Given the description of an element on the screen output the (x, y) to click on. 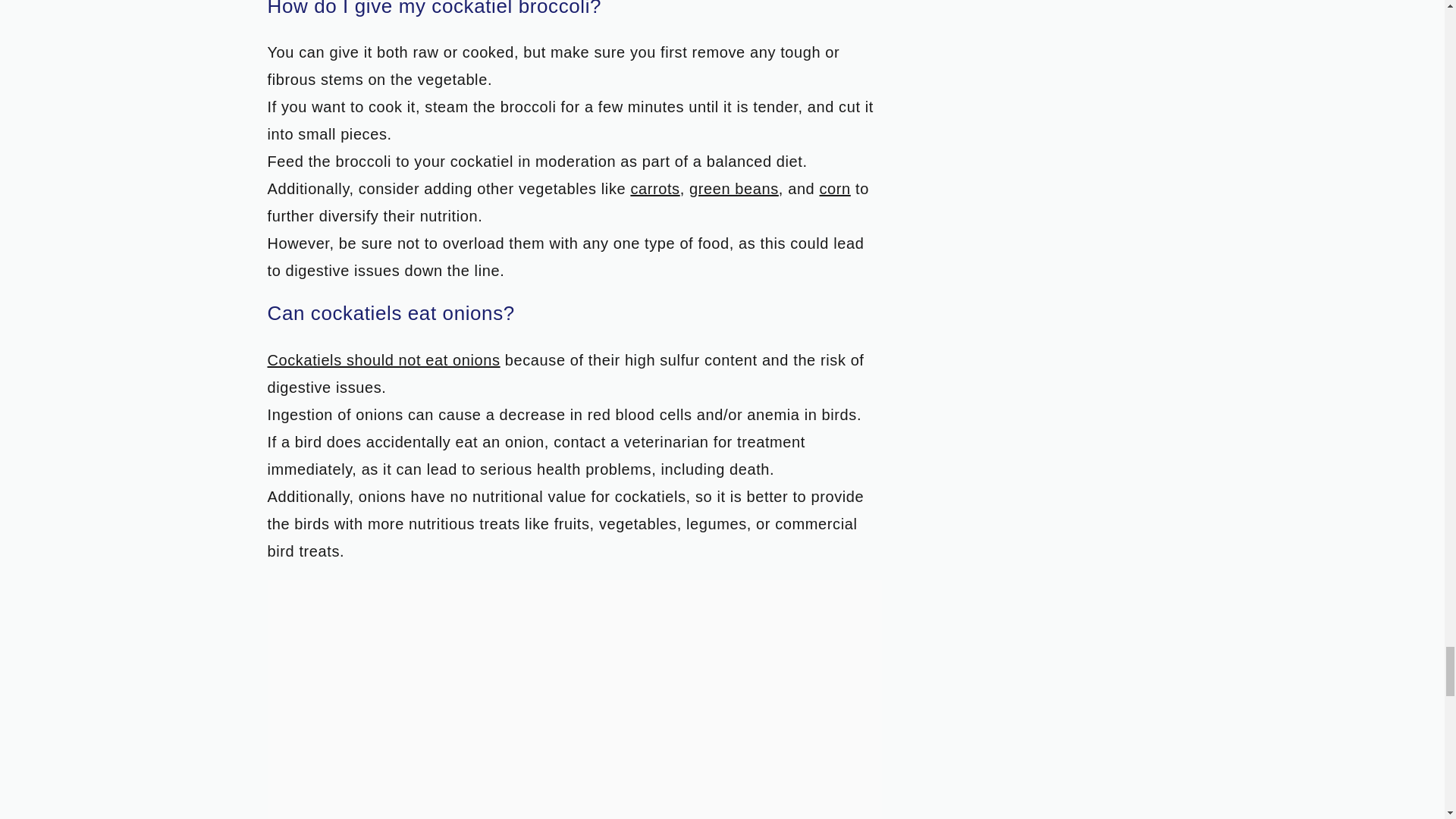
corn (834, 188)
Cockatiels should not eat onions (382, 360)
carrots (654, 188)
green beans (733, 188)
